Given the description of an element on the screen output the (x, y) to click on. 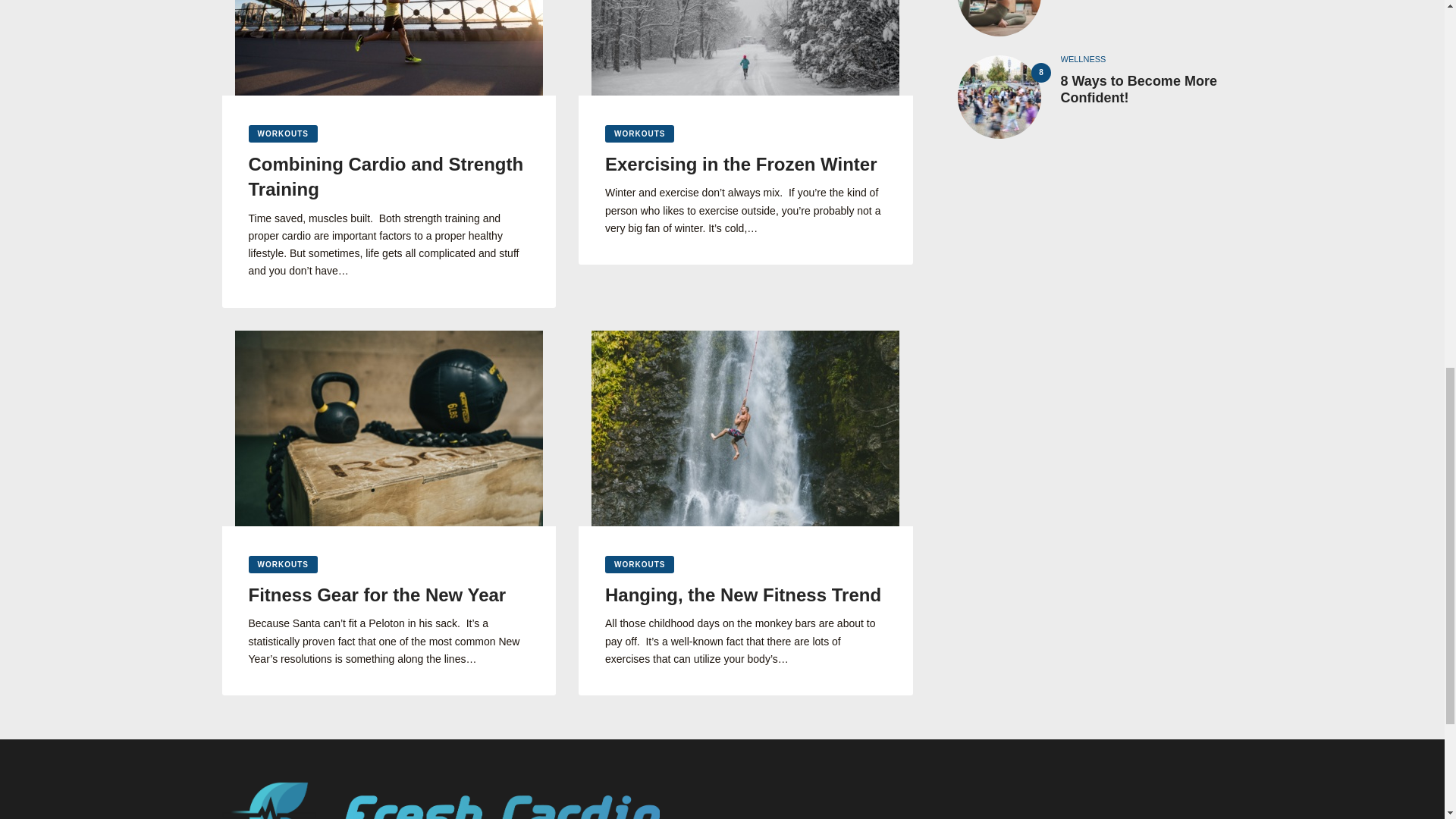
WORKOUTS (639, 564)
Exercising in the Frozen Winter (745, 163)
WORKOUTS (282, 564)
WORKOUTS (639, 133)
Fitness Gear for the New Year (388, 594)
Combining Cardio and Strength Training (388, 176)
View all posts in Wellness (1082, 58)
Hanging, the New Fitness Trend (745, 594)
WORKOUTS (282, 133)
